Given the description of an element on the screen output the (x, y) to click on. 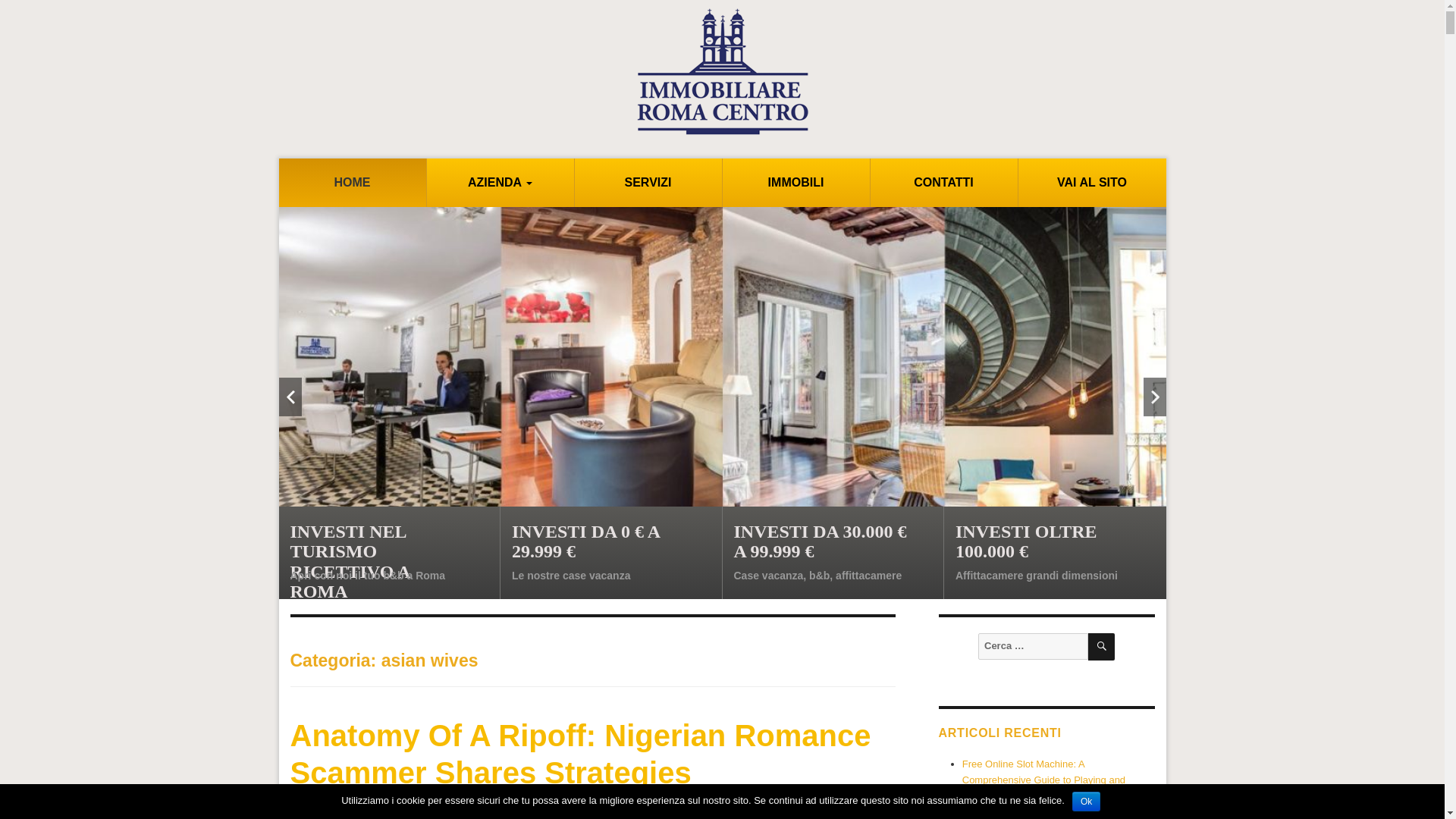
2 (721, 569)
3 (739, 569)
AZIENDA (499, 182)
VAI AL SITO (1091, 182)
IMMOBILI (795, 182)
SERVIZI (648, 182)
HOME (352, 182)
